Given the description of an element on the screen output the (x, y) to click on. 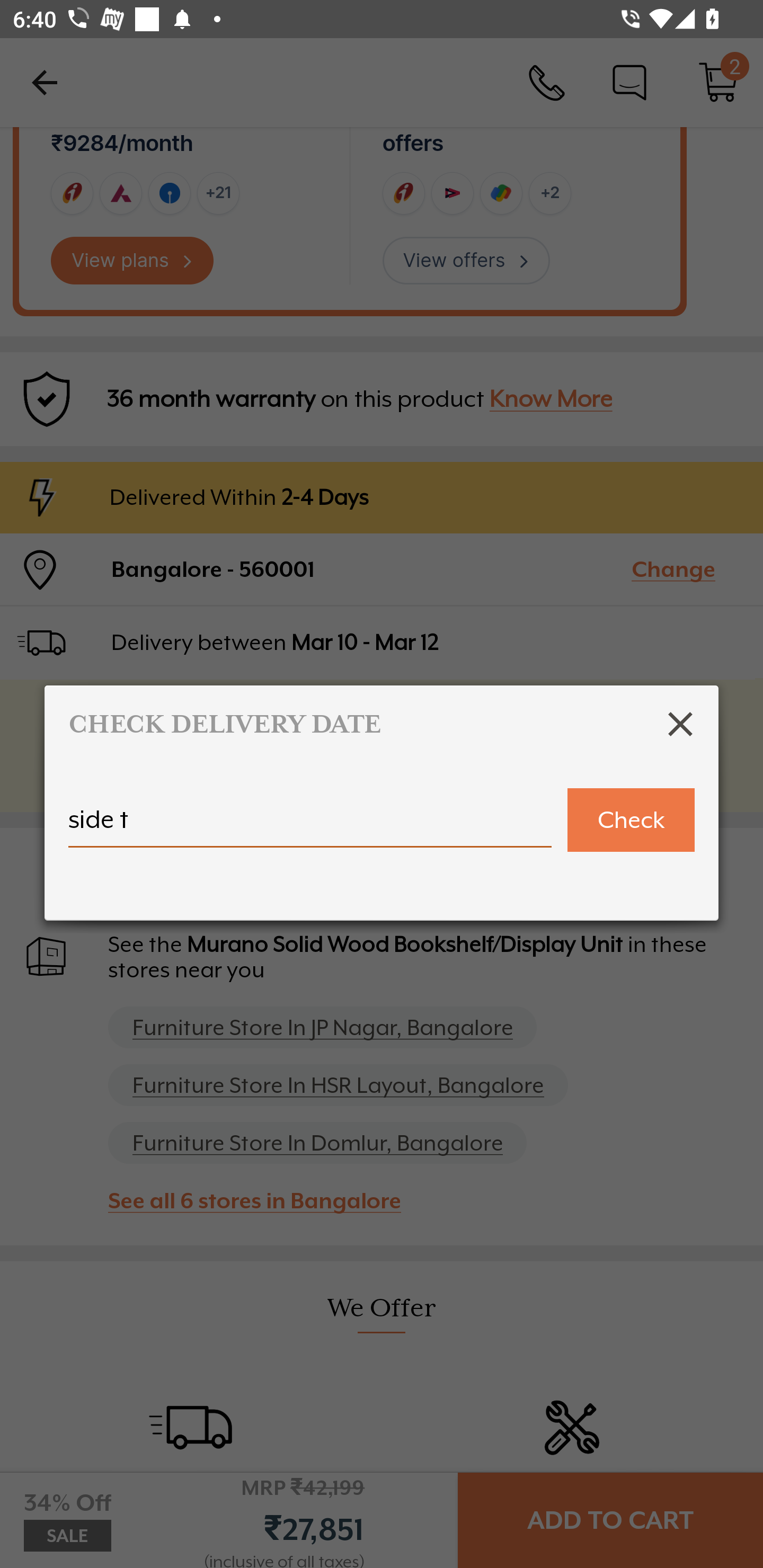
 (680, 723)
Check (630, 819)
side t (309, 827)
